Given the description of an element on the screen output the (x, y) to click on. 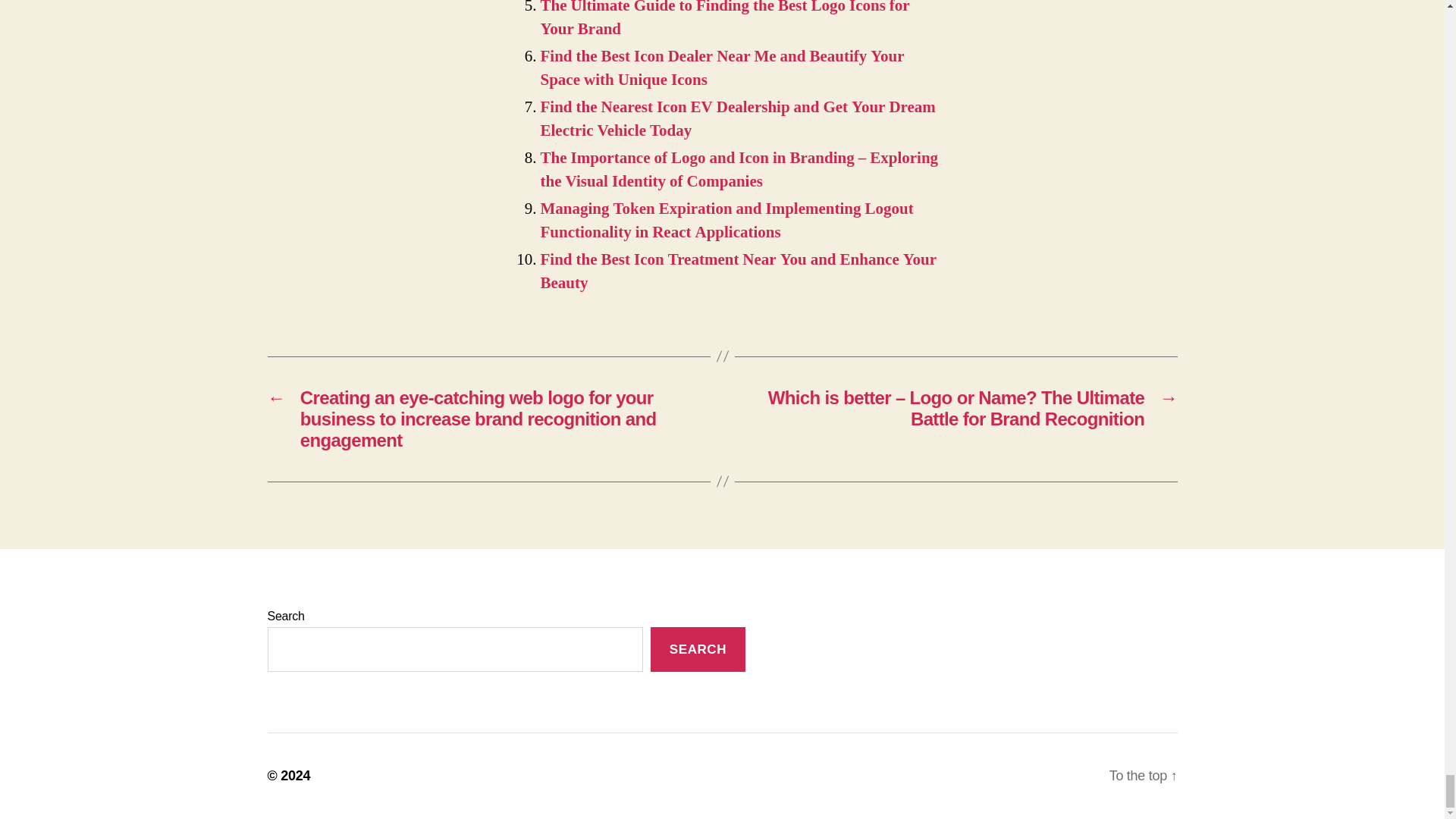
SEARCH (697, 649)
